Given the description of an element on the screen output the (x, y) to click on. 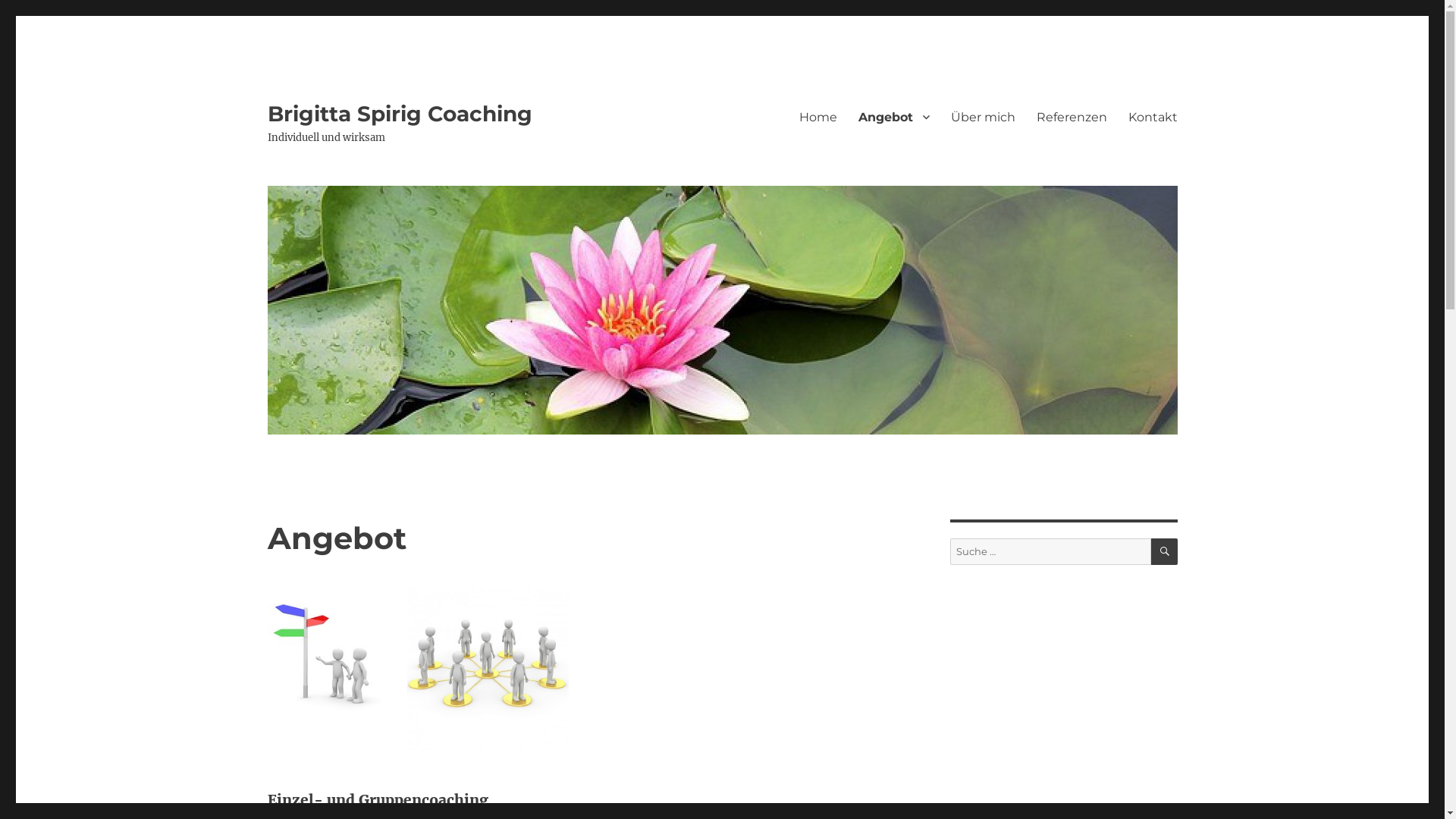
Home Element type: text (817, 116)
Angebot Element type: text (893, 116)
Referenzen Element type: text (1071, 116)
SUCHE Element type: text (1164, 551)
Kontakt Element type: text (1152, 116)
Brigitta Spirig Coaching Element type: text (398, 113)
